Given the description of an element on the screen output the (x, y) to click on. 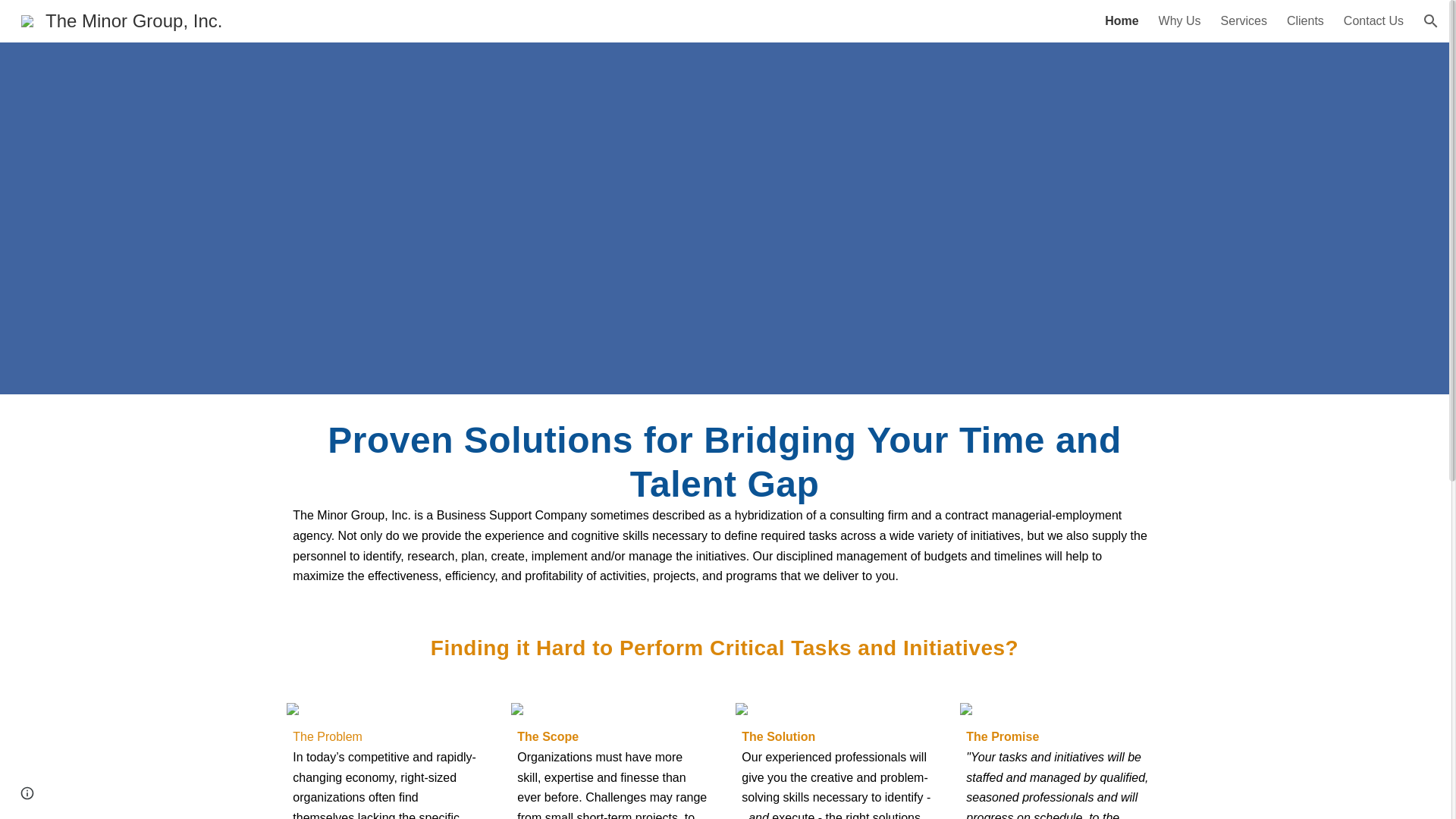
Home (1121, 20)
The Minor Group, Inc. (121, 19)
Contact Us (1373, 20)
Services (1243, 20)
Why Us (1179, 20)
Clients (1305, 20)
